Given the description of an element on the screen output the (x, y) to click on. 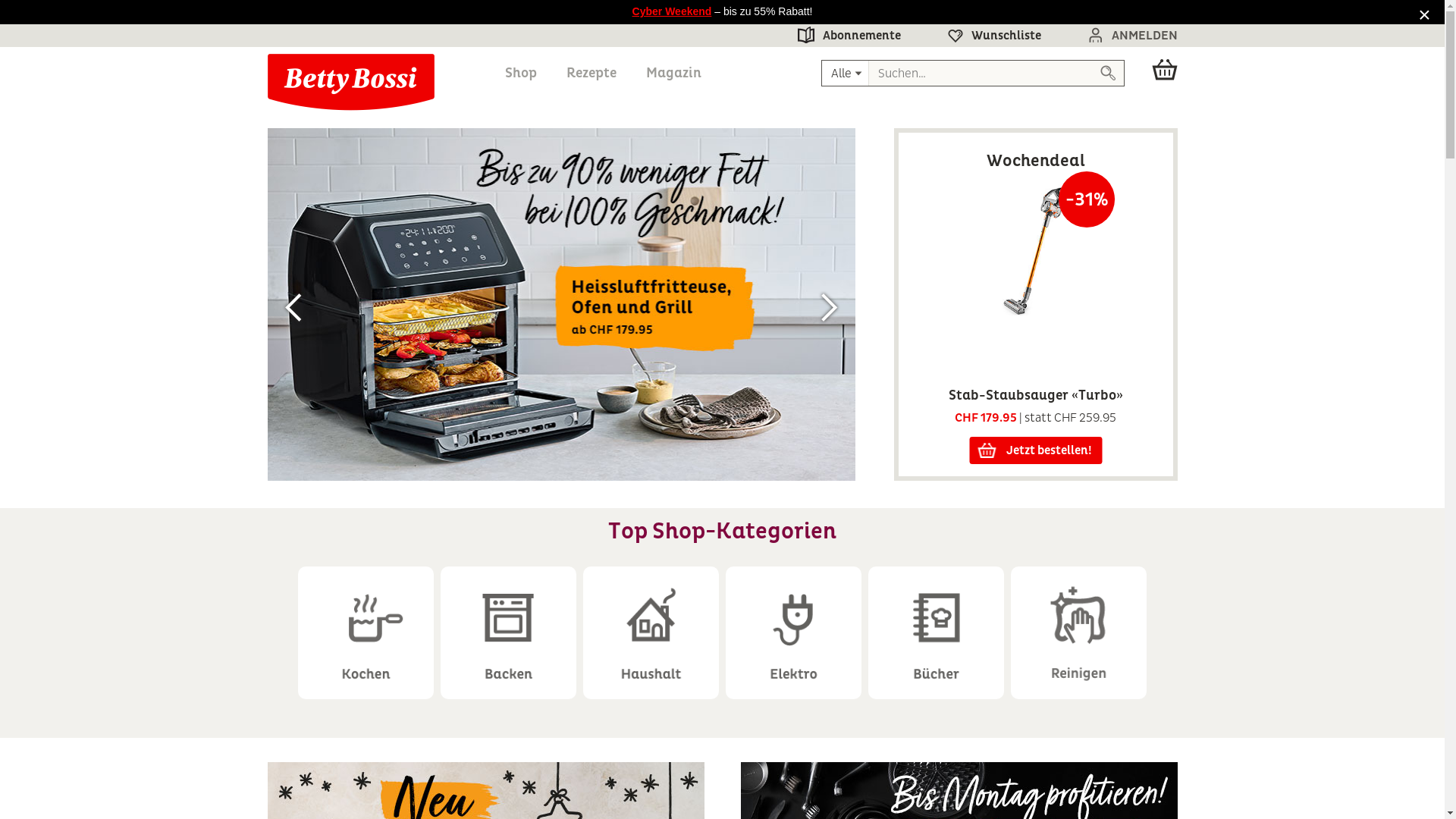
Magazin Element type: text (673, 73)
Go Element type: text (1108, 72)
Abonnemente Element type: text (839, 35)
Wunschliste Element type: text (984, 35)
ANMELDEN Element type: text (1123, 35)
Rezepte Element type: text (590, 73)
Jetzt bestellen! Element type: text (1035, 450)
Shop Element type: text (520, 73)
Betty Bossi Home Element type: hover (349, 81)
Warenkorb Element type: hover (1158, 69)
Alle Element type: text (845, 72)
